Given the description of an element on the screen output the (x, y) to click on. 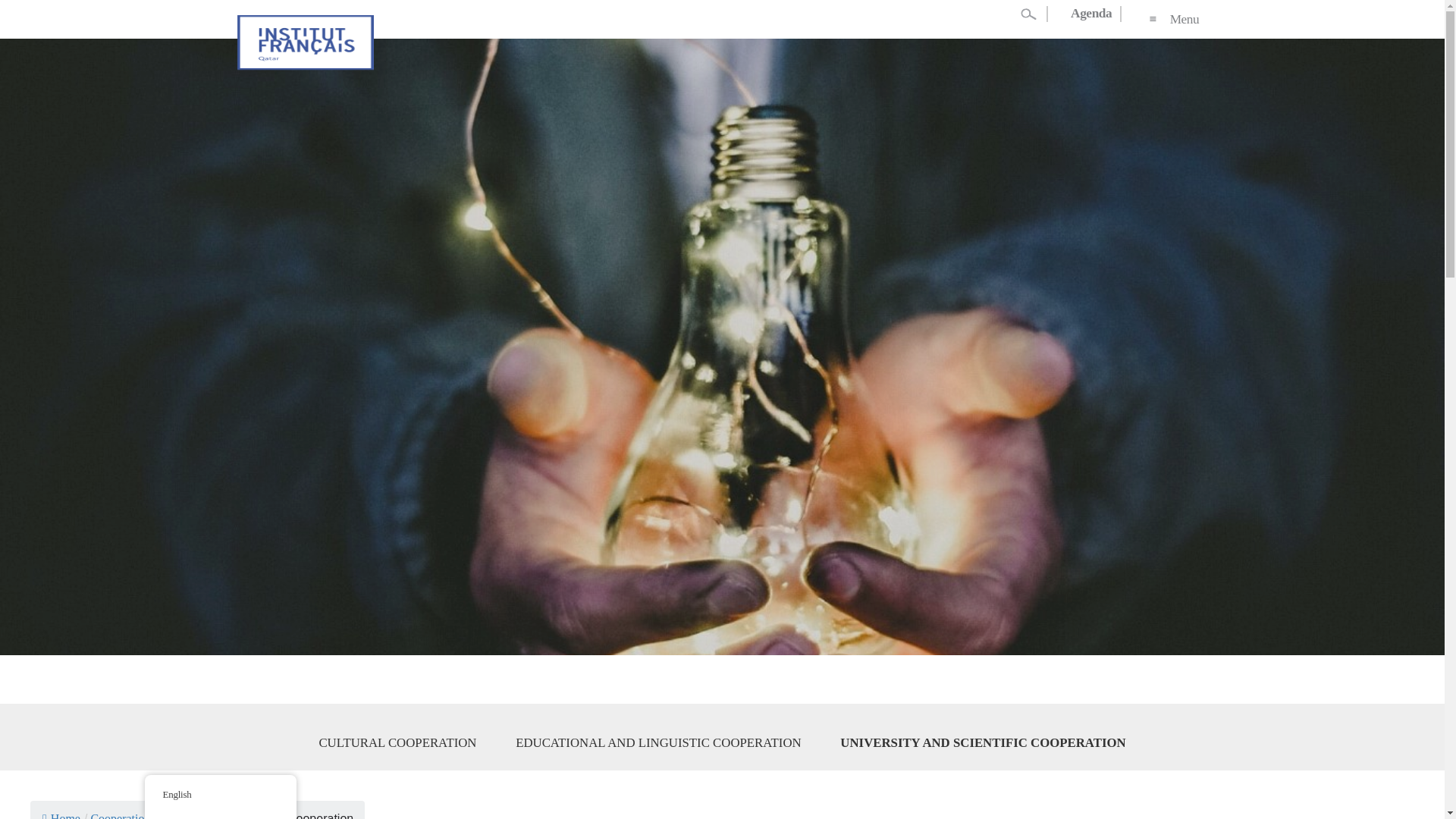
Cooperation (119, 815)
Menu (1172, 18)
University and scientific cooperation (256, 815)
Agenda (1091, 13)
